Given the description of an element on the screen output the (x, y) to click on. 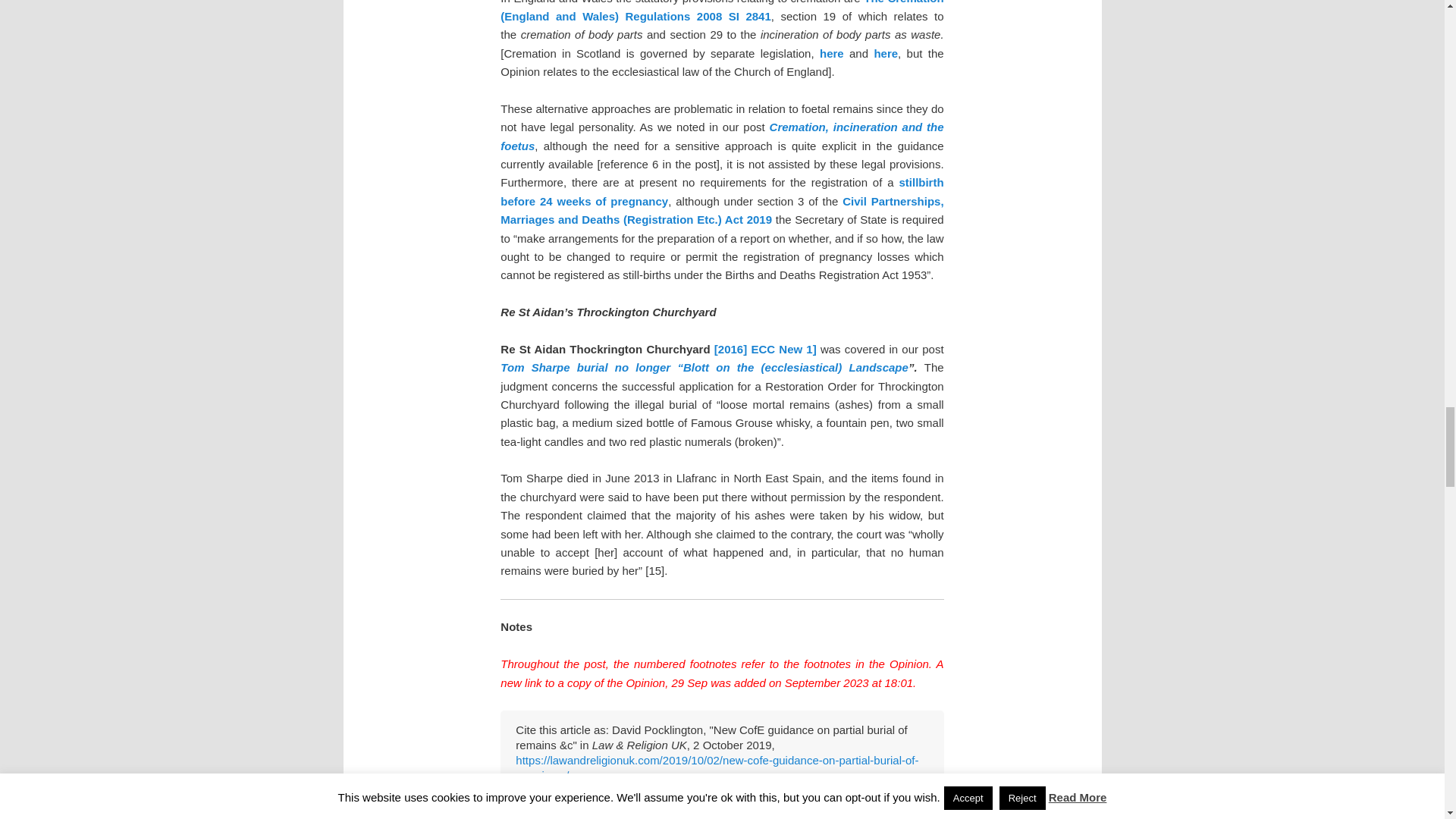
here (885, 52)
new methods of disposal (876, 817)
burial costs (656, 817)
burial law (709, 817)
ashes (614, 817)
Cremation, incineration and the foetus (721, 135)
Church of England (775, 817)
here (831, 52)
stillbirth before 24 weeks of pregnancy (721, 191)
